Given the description of an element on the screen output the (x, y) to click on. 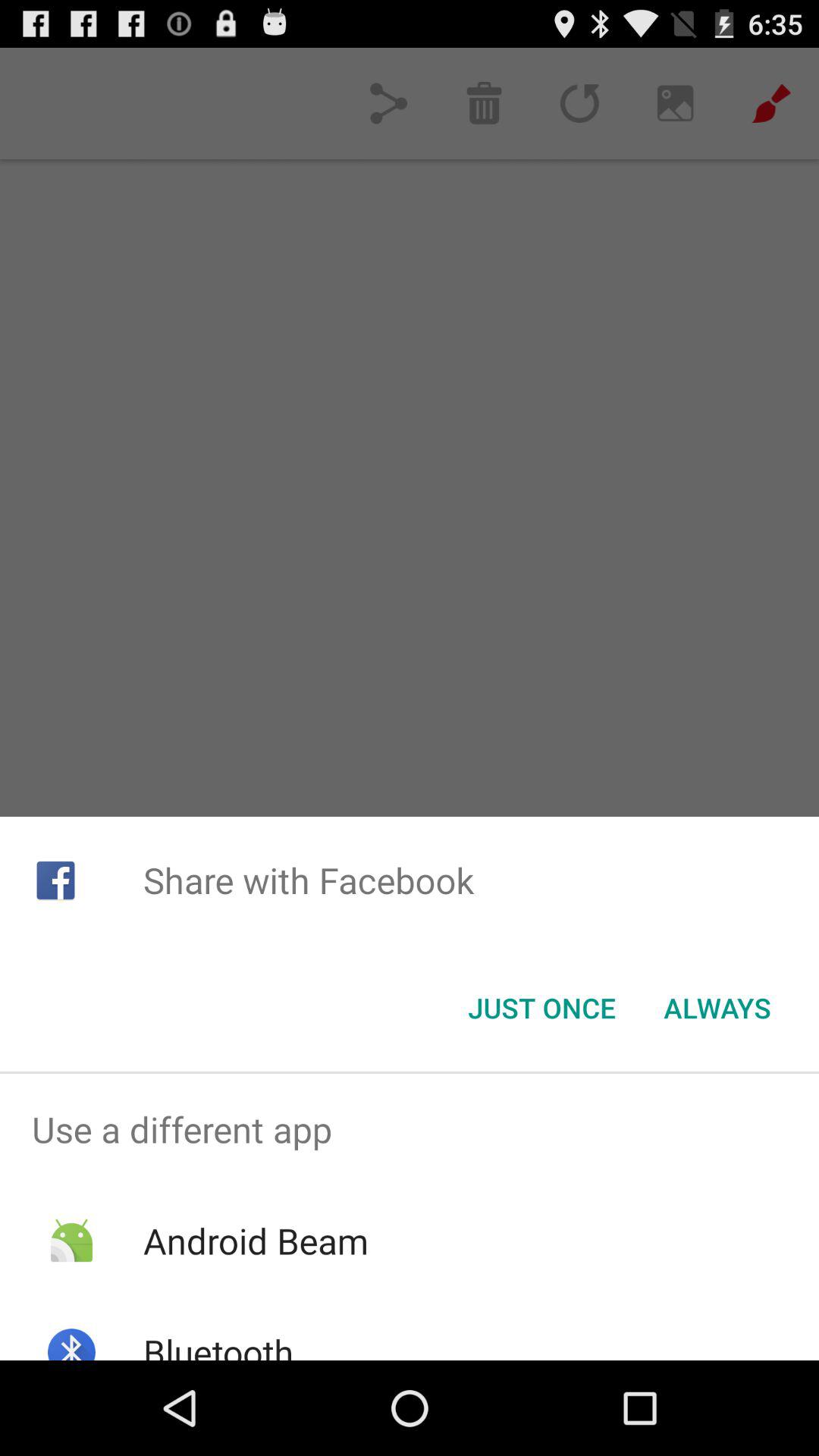
flip to bluetooth app (218, 1344)
